Given the description of an element on the screen output the (x, y) to click on. 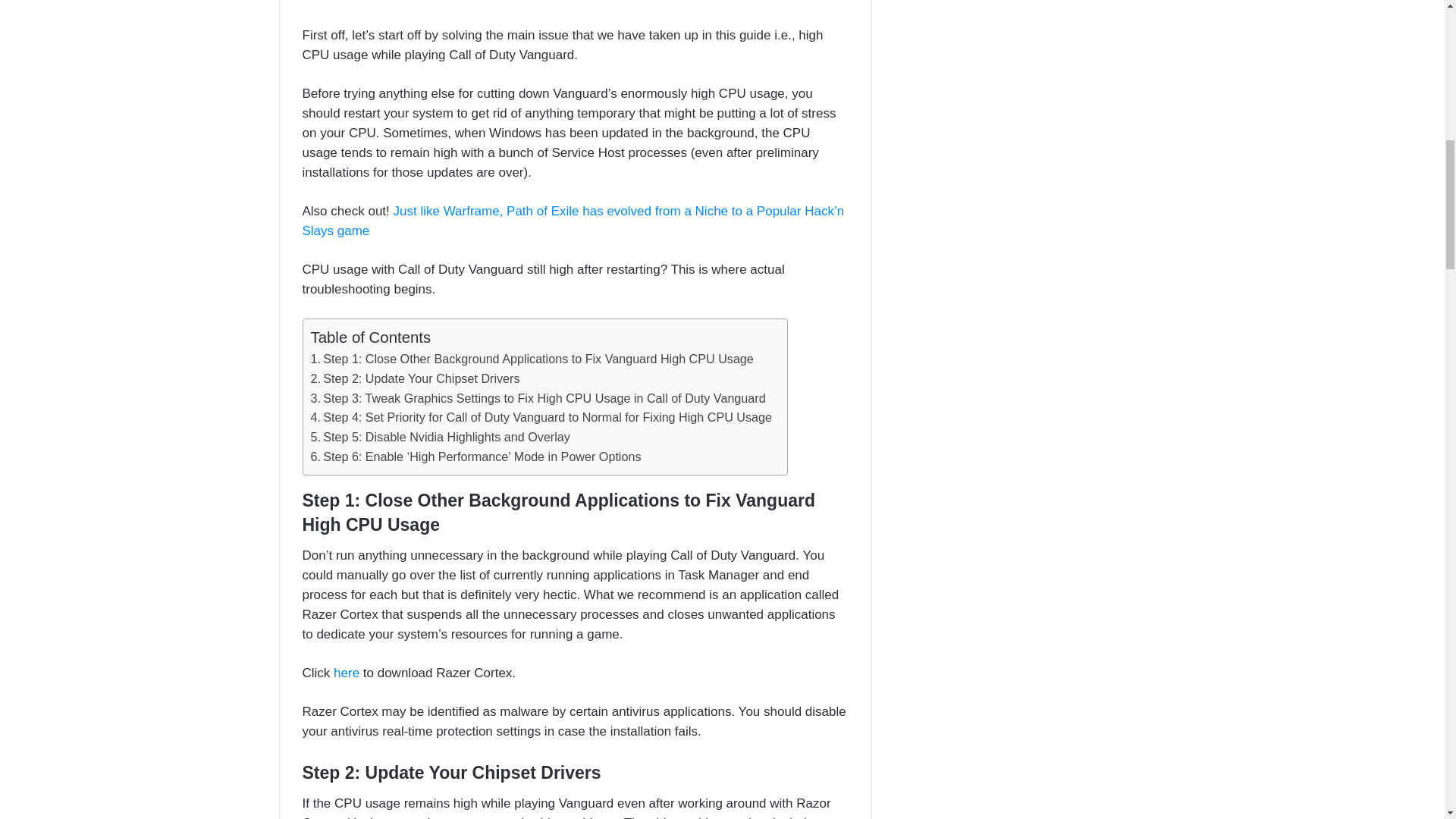
Step 5: Disable Nvidia Highlights and Overlay (440, 437)
Step 2: Update Your Chipset Drivers  (415, 379)
Step 5: Disable Nvidia Highlights and Overlay (440, 437)
Step 2: Update Your Chipset Drivers (415, 379)
here (347, 672)
